Given the description of an element on the screen output the (x, y) to click on. 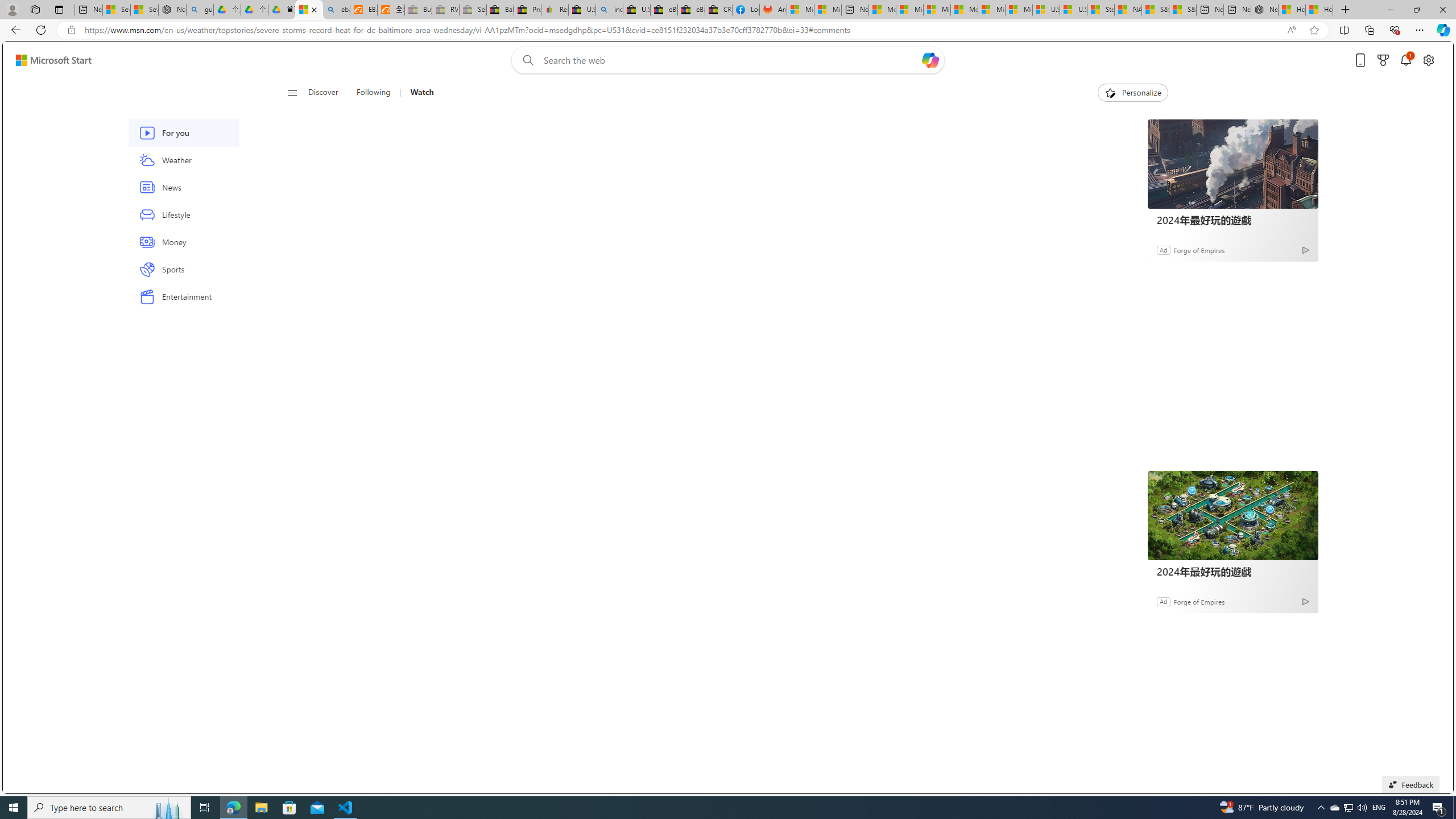
Personalize (1132, 92)
guge yunpan - Search (200, 9)
Microsoft rewards (1382, 60)
eBay Inc. Reports Third Quarter 2023 Results (691, 9)
Microsoft account | Home (936, 9)
Class: button-glyph (292, 92)
Log into Facebook (746, 9)
